Given the description of an element on the screen output the (x, y) to click on. 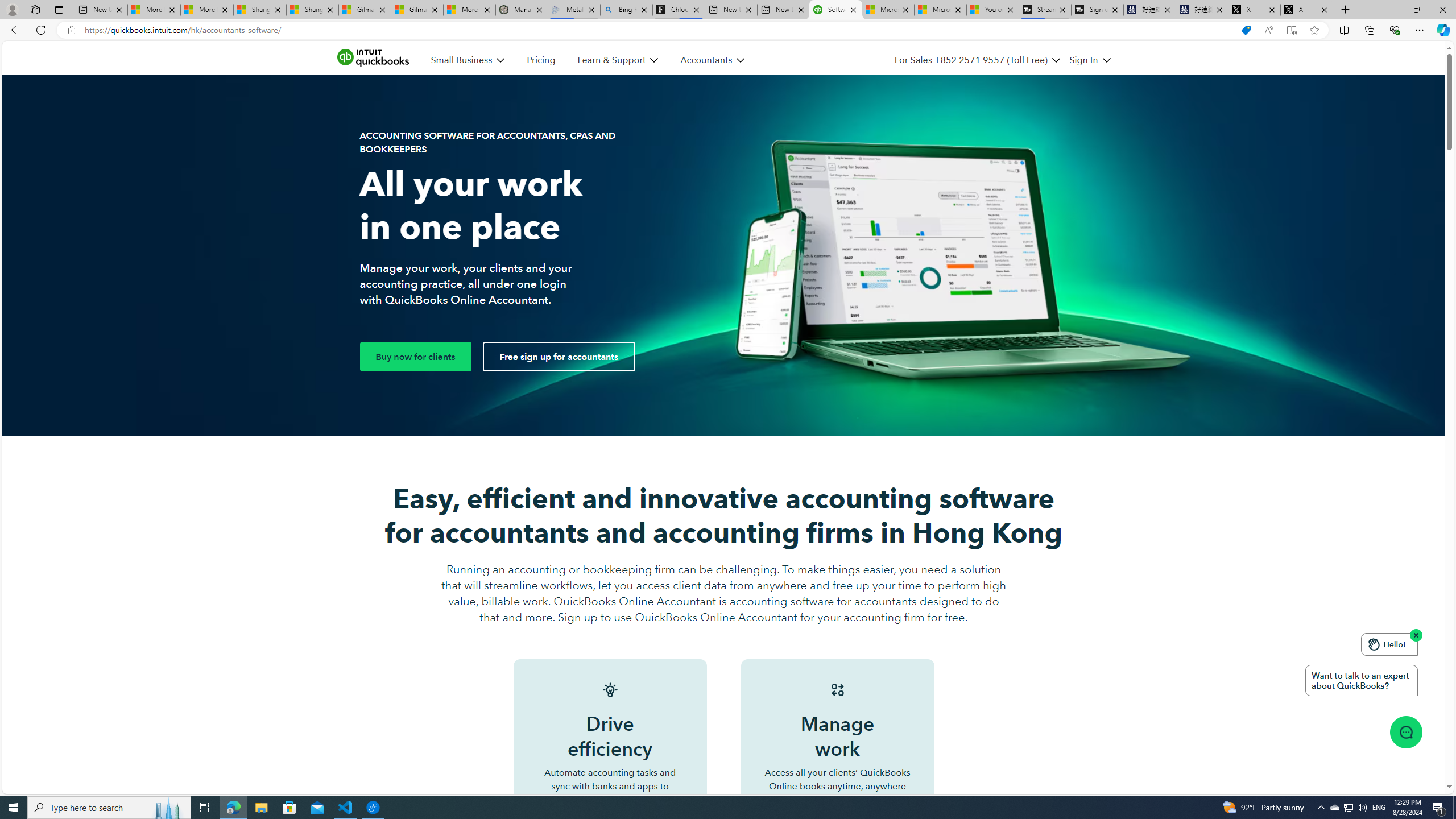
Class: message-icon_img-desktop (1405, 731)
Accountants (712, 60)
Bing Real Estate - Home sales and rental listings (626, 9)
Shopping in Microsoft Edge (1245, 29)
Free sign up for accountants (557, 356)
hand-icon (1373, 644)
For Sales +852 2571 9557 (Toll Free) (970, 60)
